Given the description of an element on the screen output the (x, y) to click on. 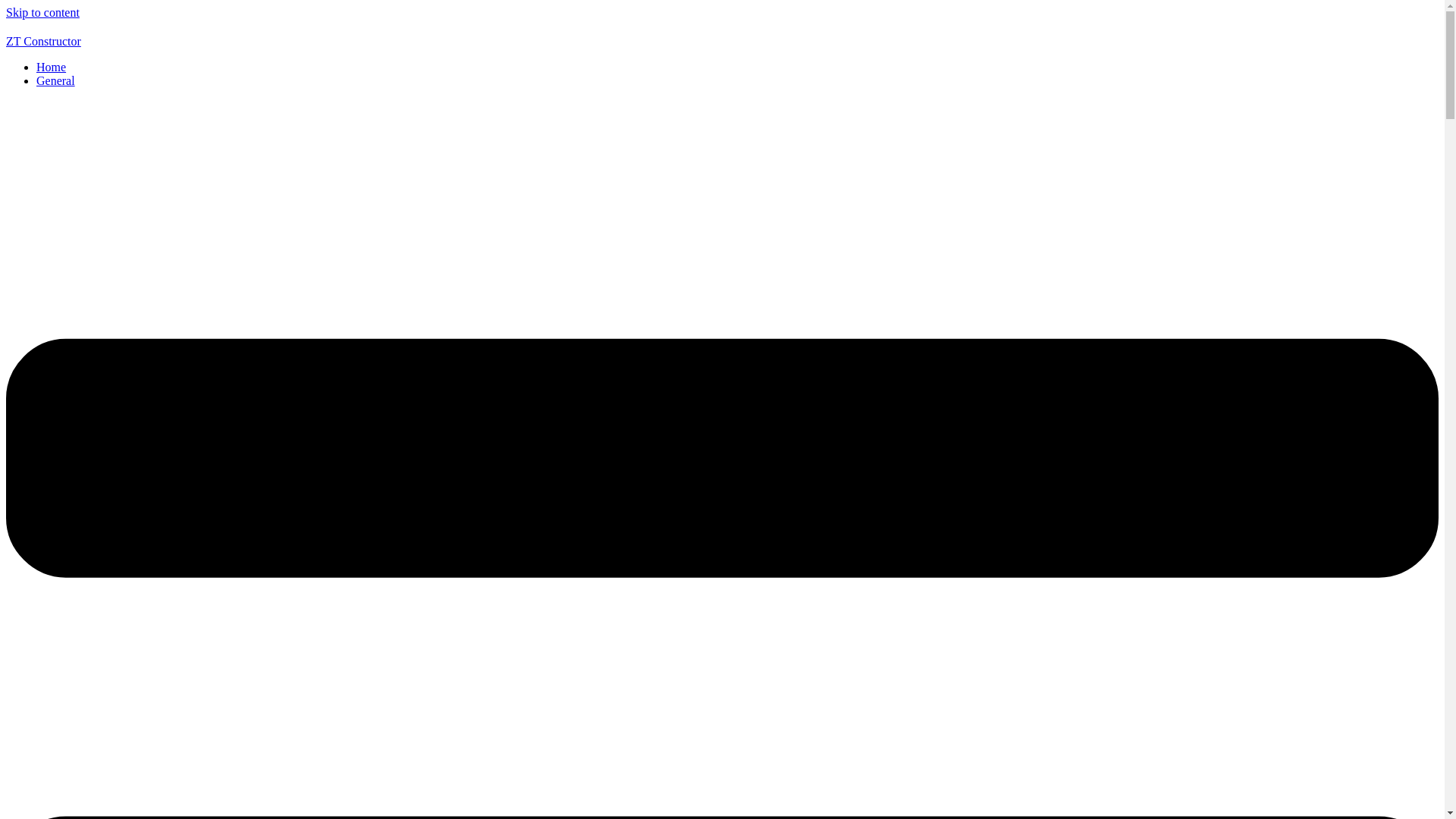
Home (50, 66)
Skip to content (42, 11)
General (55, 80)
ZT Constructor (43, 41)
